Given the description of an element on the screen output the (x, y) to click on. 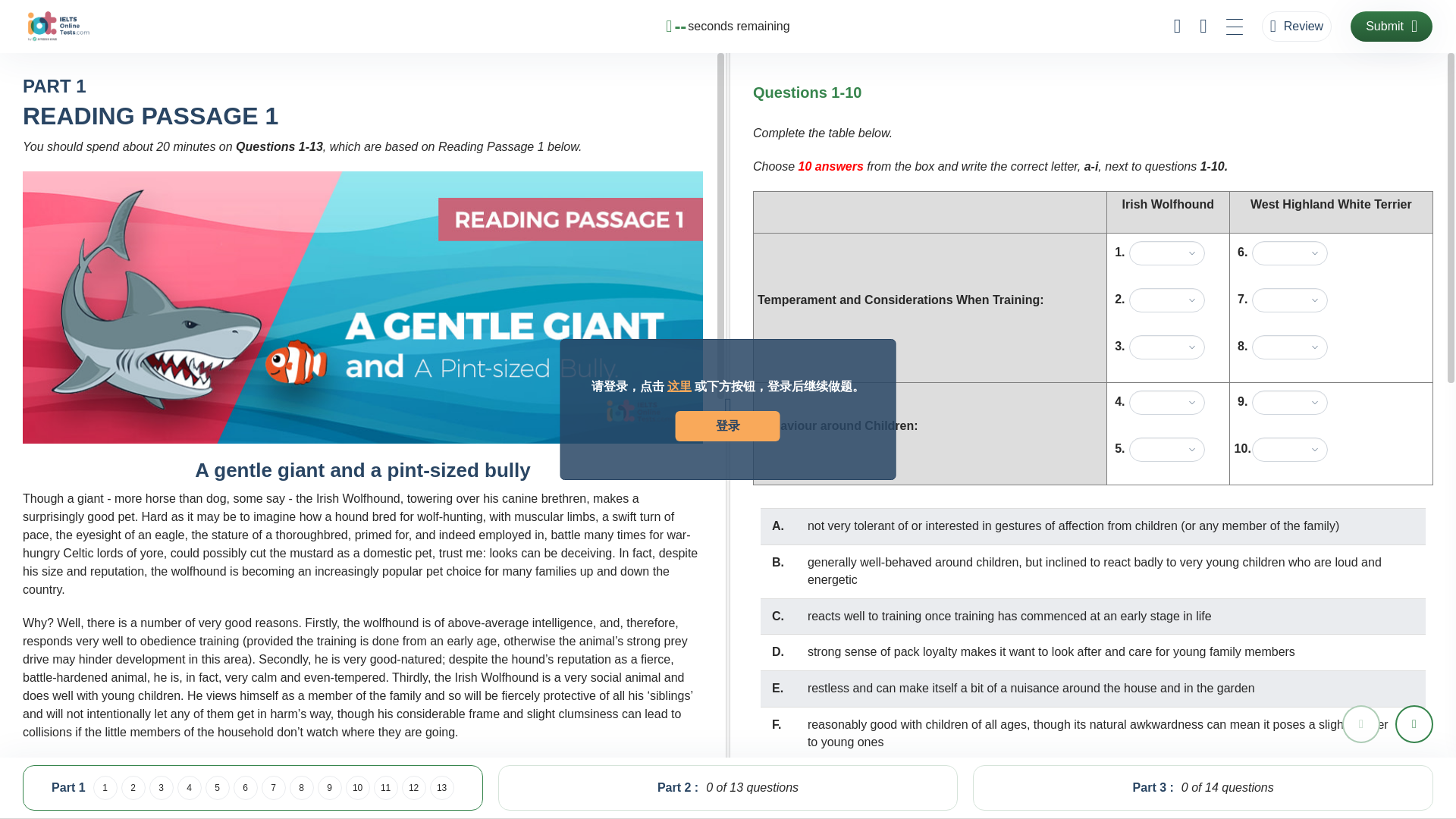
Submit (1391, 26)
Review (1297, 26)
